Given the description of an element on the screen output the (x, y) to click on. 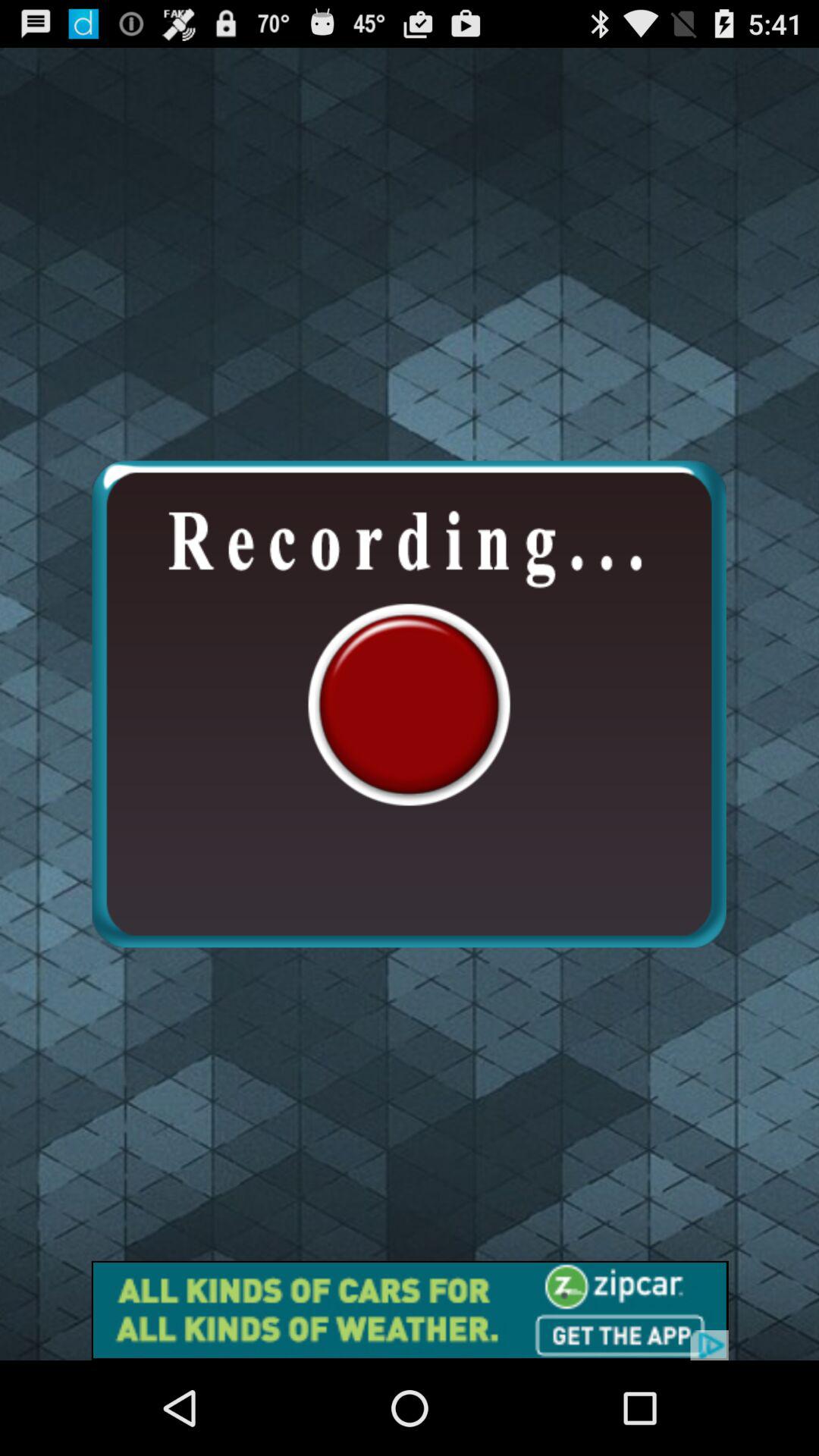
open advertisement (409, 1310)
